Given the description of an element on the screen output the (x, y) to click on. 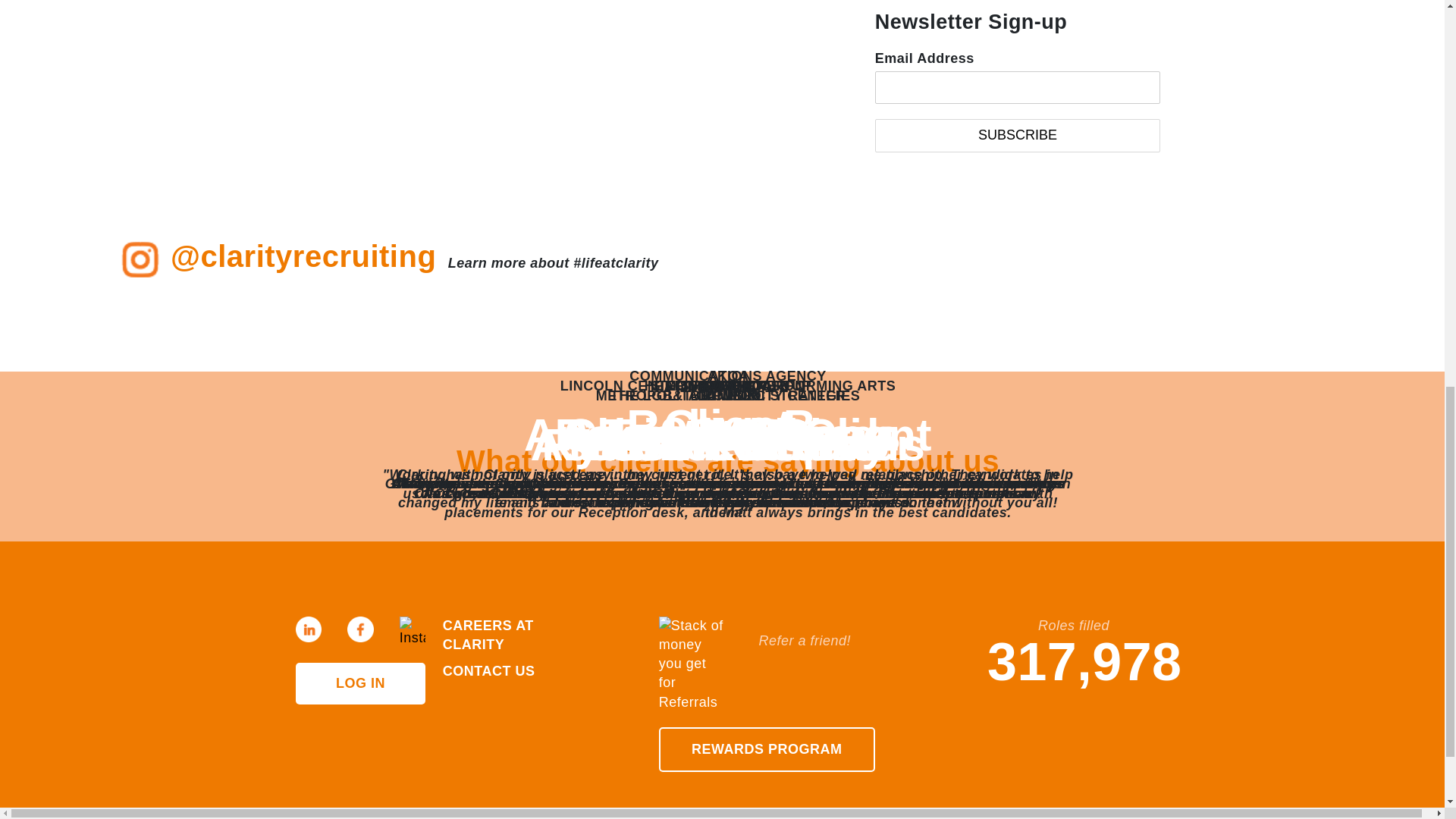
Subscribe (1017, 135)
